Given the description of an element on the screen output the (x, y) to click on. 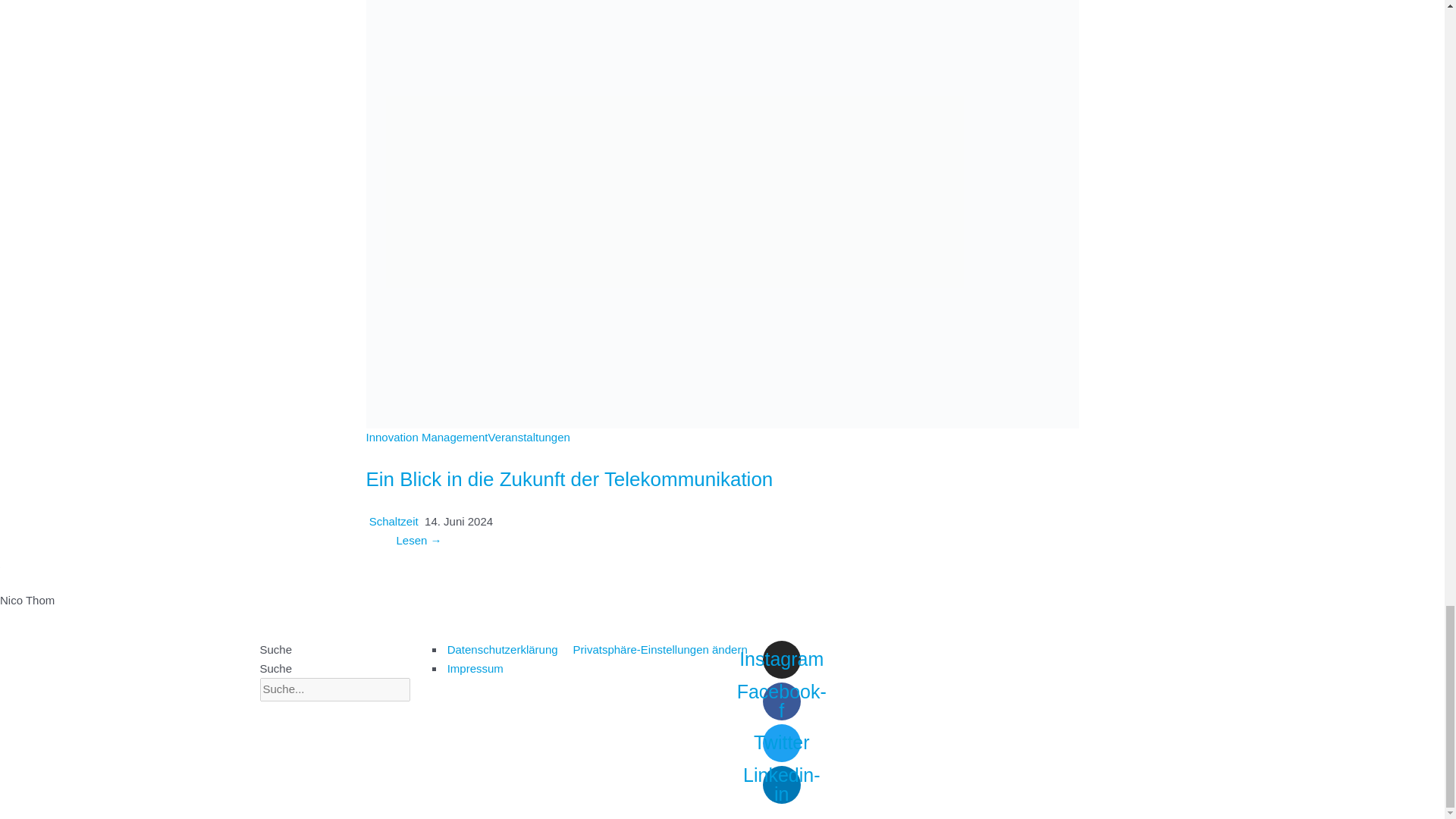
Instagram (781, 659)
Facebook-f (781, 701)
Ein Blick in die Zukunft der Telekommunikation (721, 189)
Veranstaltungen (528, 436)
Twitter (781, 742)
Impressum (473, 667)
Linkedin-in (781, 784)
Innovation Management (426, 436)
Schaltzeit (394, 521)
Ein Blick in die Zukunft der Telekommunikation (569, 478)
